Given the description of an element on the screen output the (x, y) to click on. 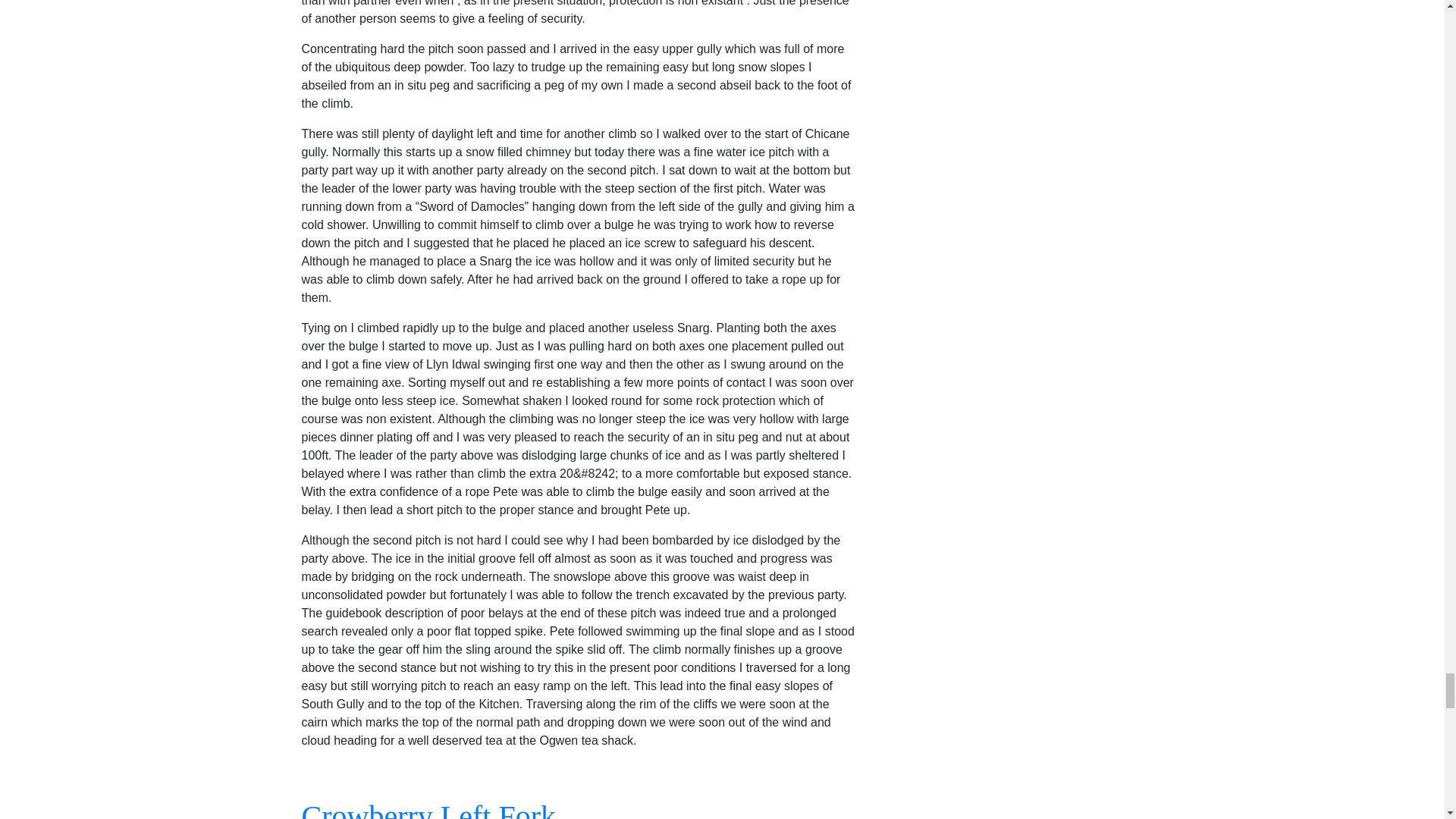
Crowberry Left Fork (428, 809)
